Given the description of an element on the screen output the (x, y) to click on. 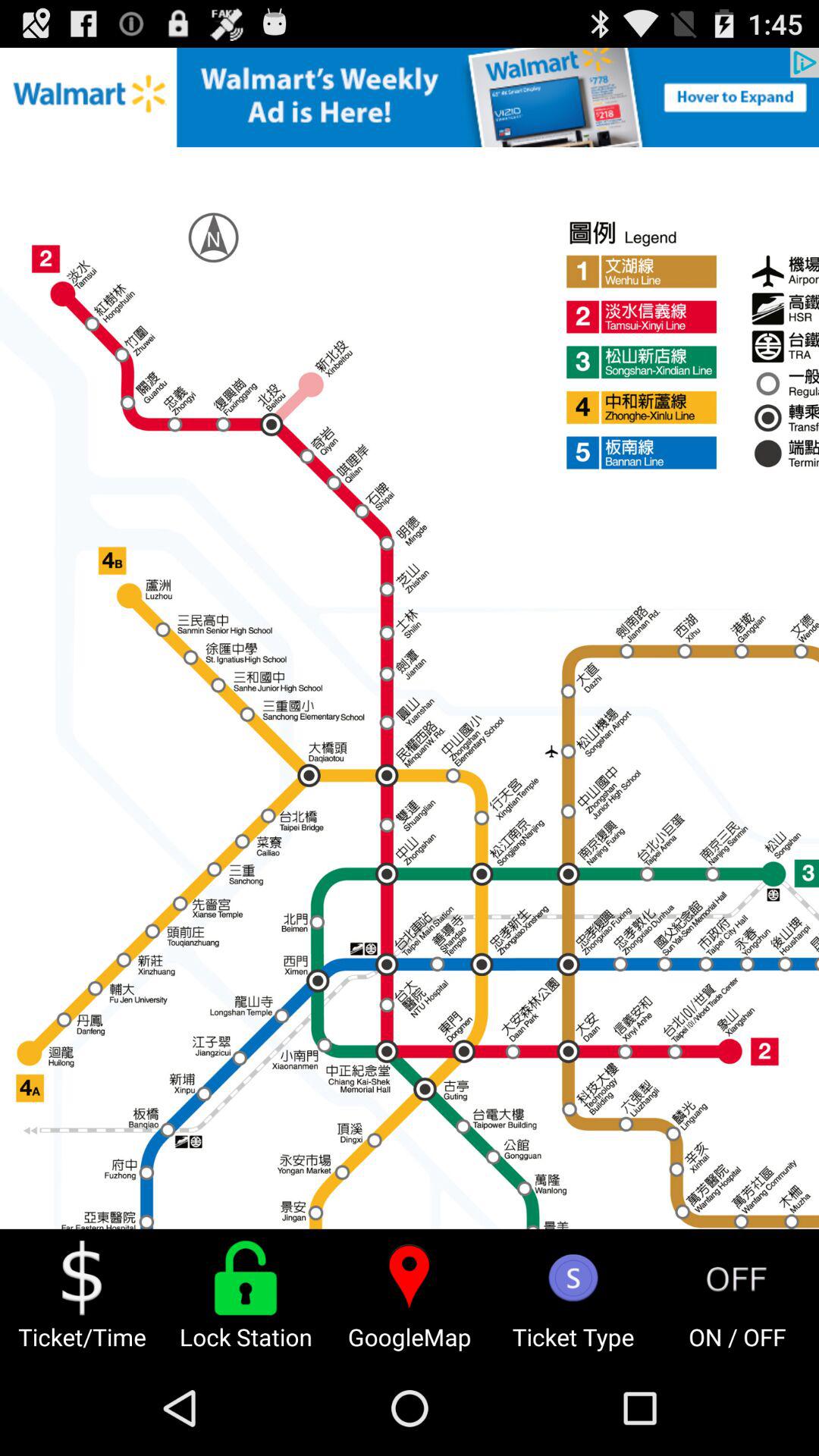
content area (409, 638)
